Given the description of an element on the screen output the (x, y) to click on. 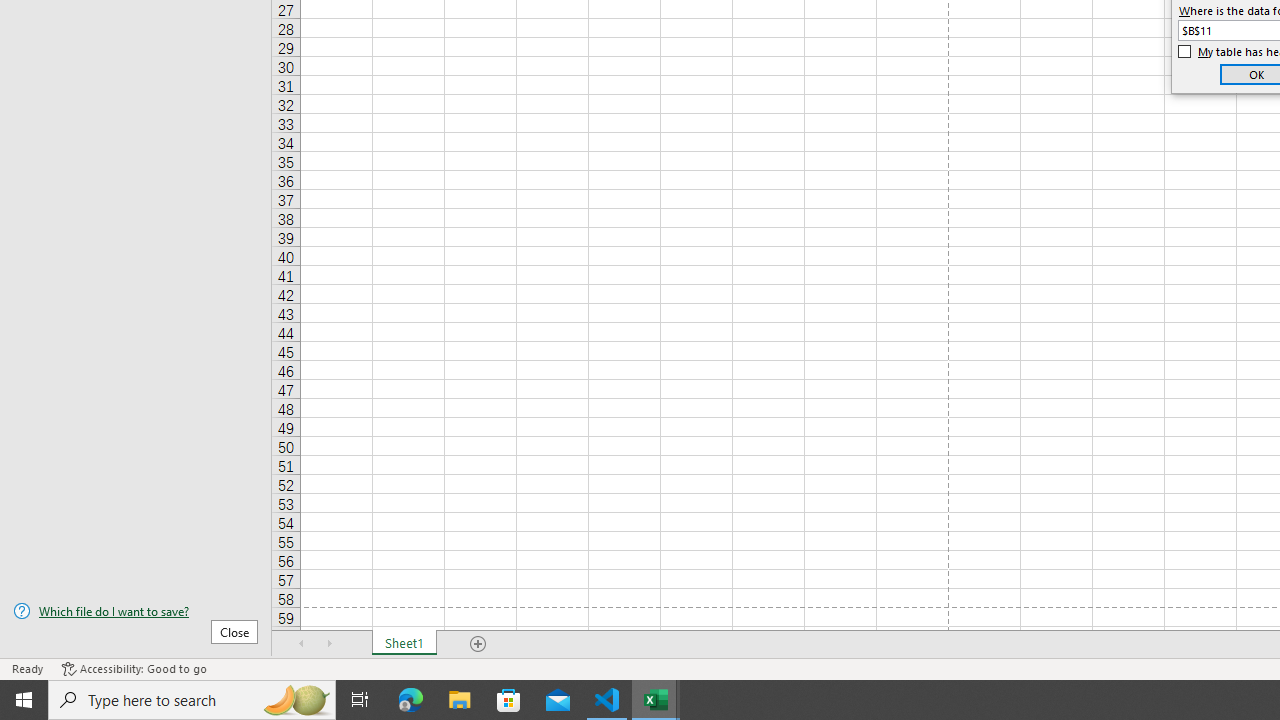
Accessibility Checker Accessibility: Good to go (134, 668)
Which file do I want to save? (136, 611)
